Given the description of an element on the screen output the (x, y) to click on. 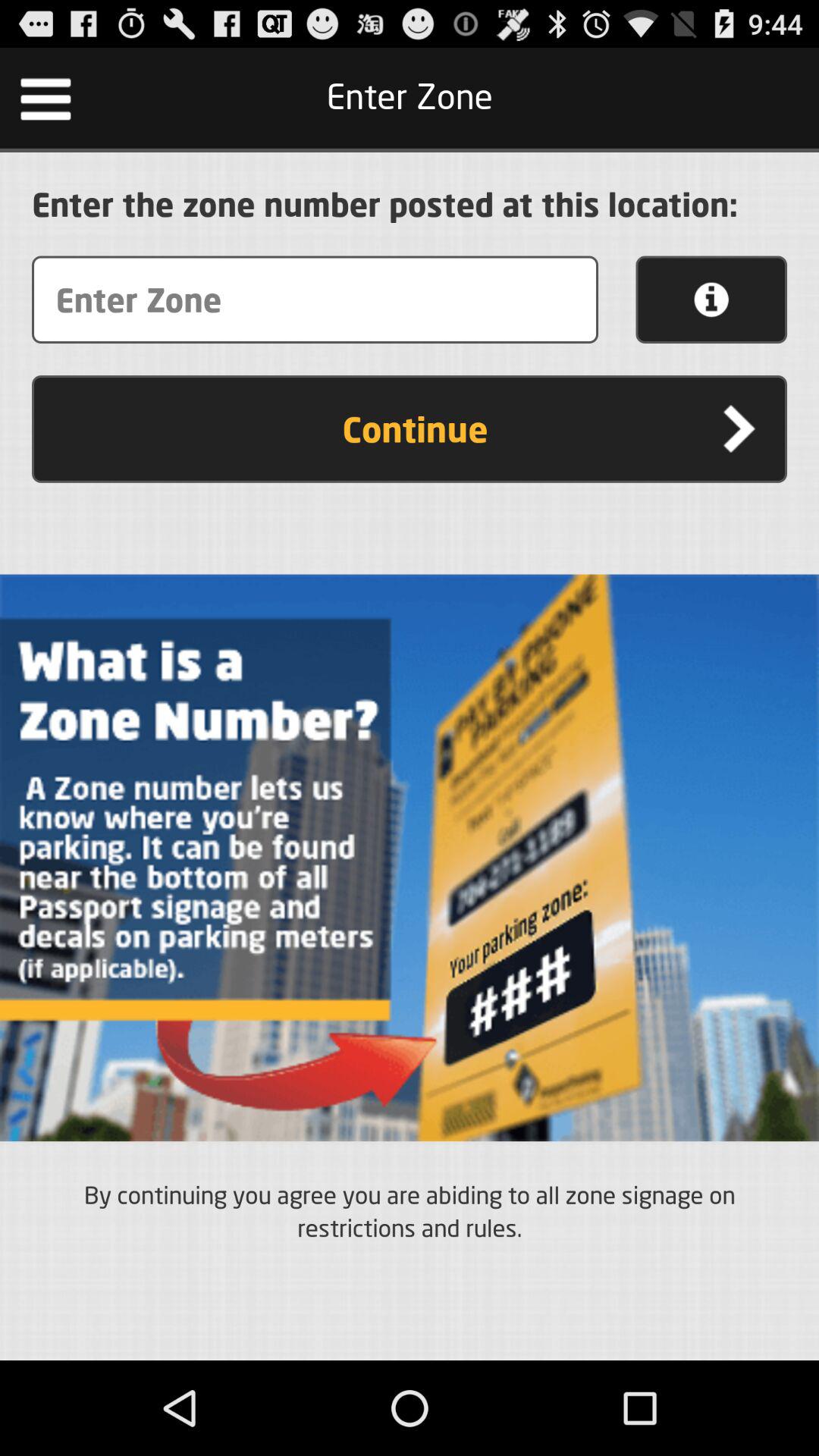
press the button above the continue button (711, 299)
